Given the description of an element on the screen output the (x, y) to click on. 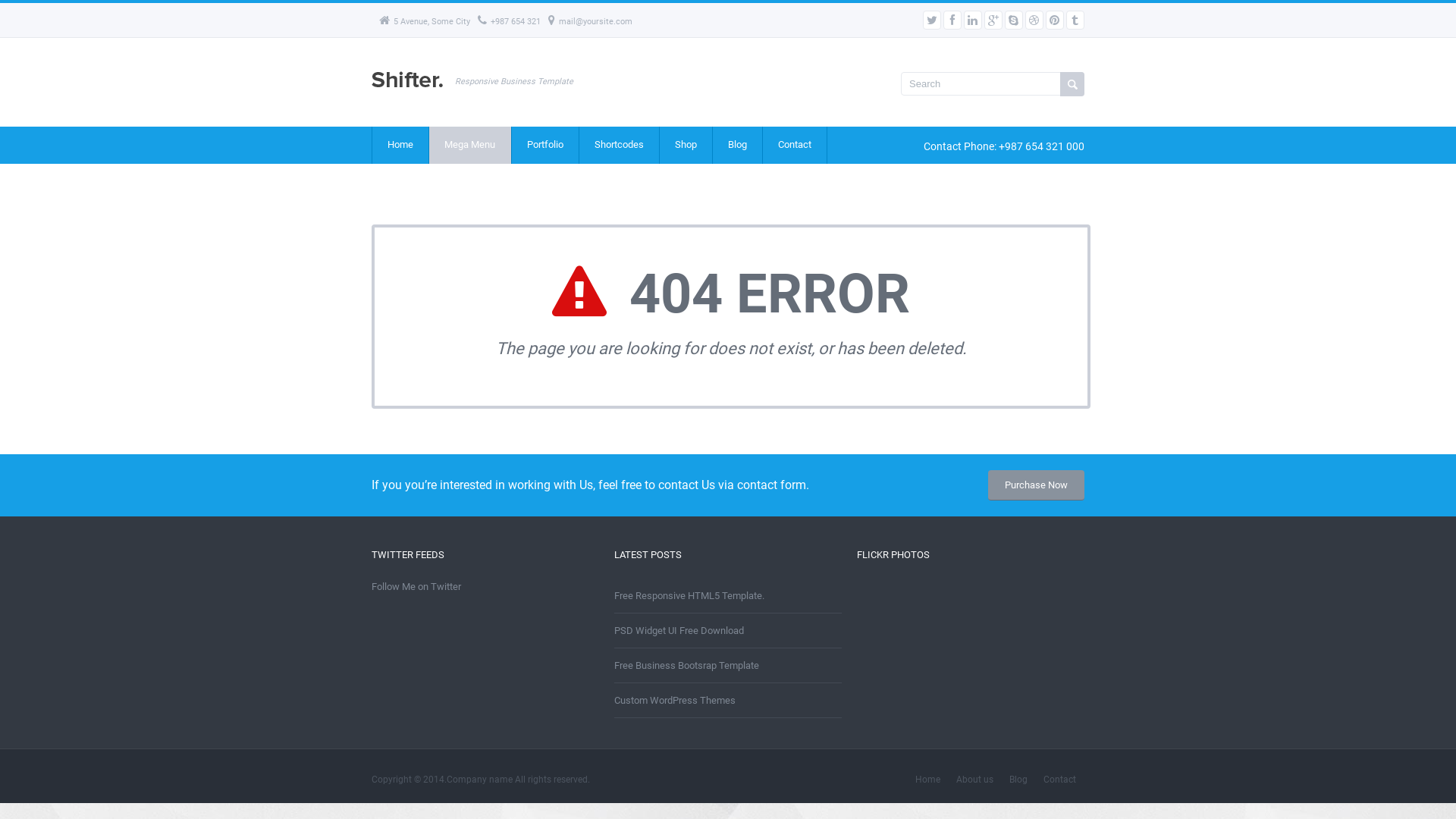
Custom WordPress Themes Element type: text (674, 700)
Purchase Now Element type: text (1036, 485)
Contact Element type: text (1059, 779)
Follow Me on Twitter Element type: text (416, 586)
PSD Widget UI Free Download Element type: text (678, 630)
Portfolio Element type: text (544, 144)
Free Responsive HTML5 Template. Element type: text (689, 595)
Blog Element type: text (1018, 779)
Shortcodes Element type: text (618, 144)
+987 654 321 Element type: text (508, 21)
Free Business Bootsrap Template Element type: text (686, 665)
Contact Element type: text (794, 144)
Home Element type: text (927, 779)
About us Element type: text (974, 779)
Home Element type: text (399, 144)
mail@yoursite.com Element type: text (590, 21)
Blog Element type: text (737, 144)
Shop Element type: text (685, 144)
5 Avenue, Some City Element type: text (424, 21)
Mega Menu Element type: text (469, 144)
Responsive Business Template Element type: text (409, 87)
